Given the description of an element on the screen output the (x, y) to click on. 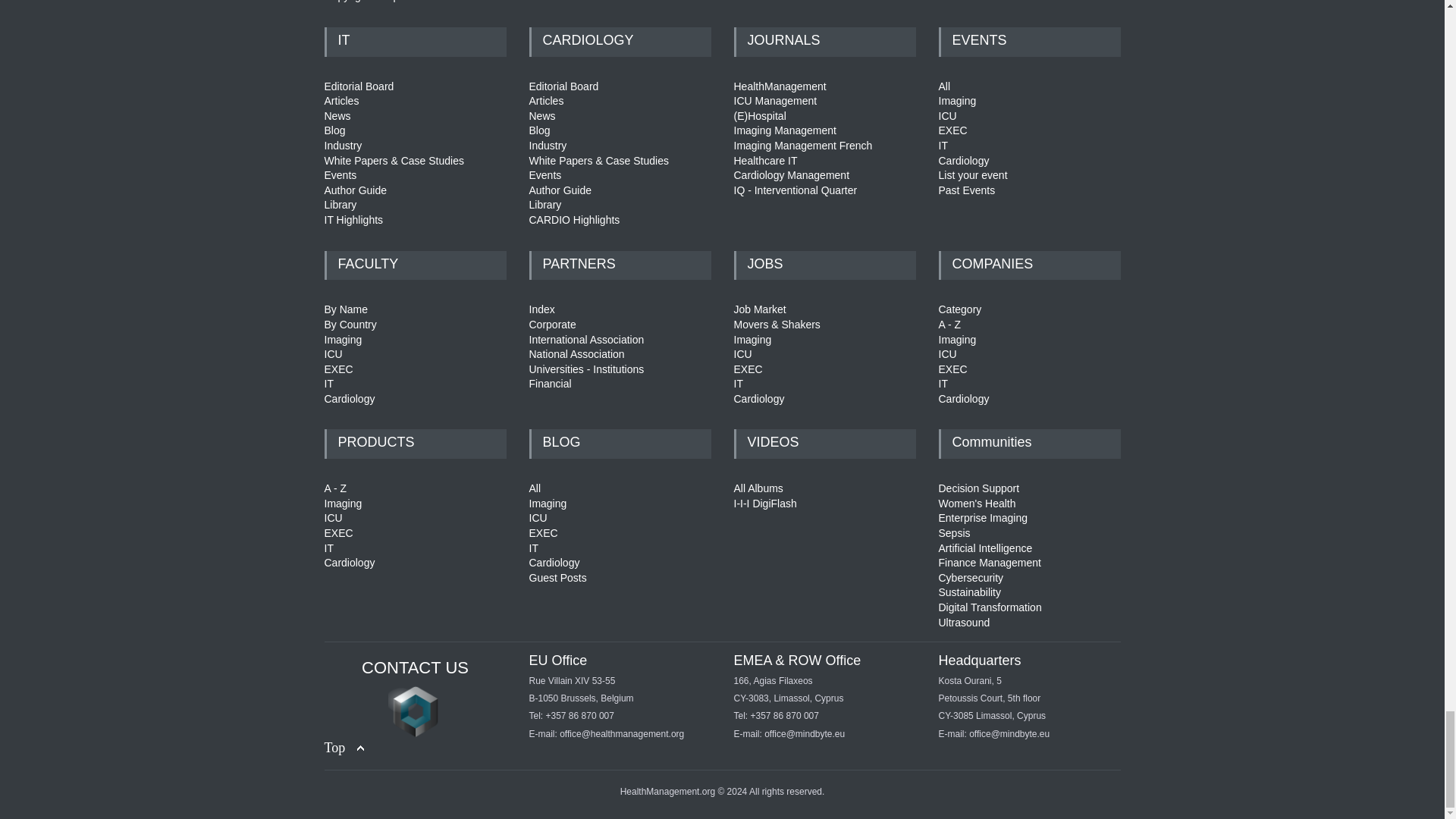
Top (344, 747)
